Given the description of an element on the screen output the (x, y) to click on. 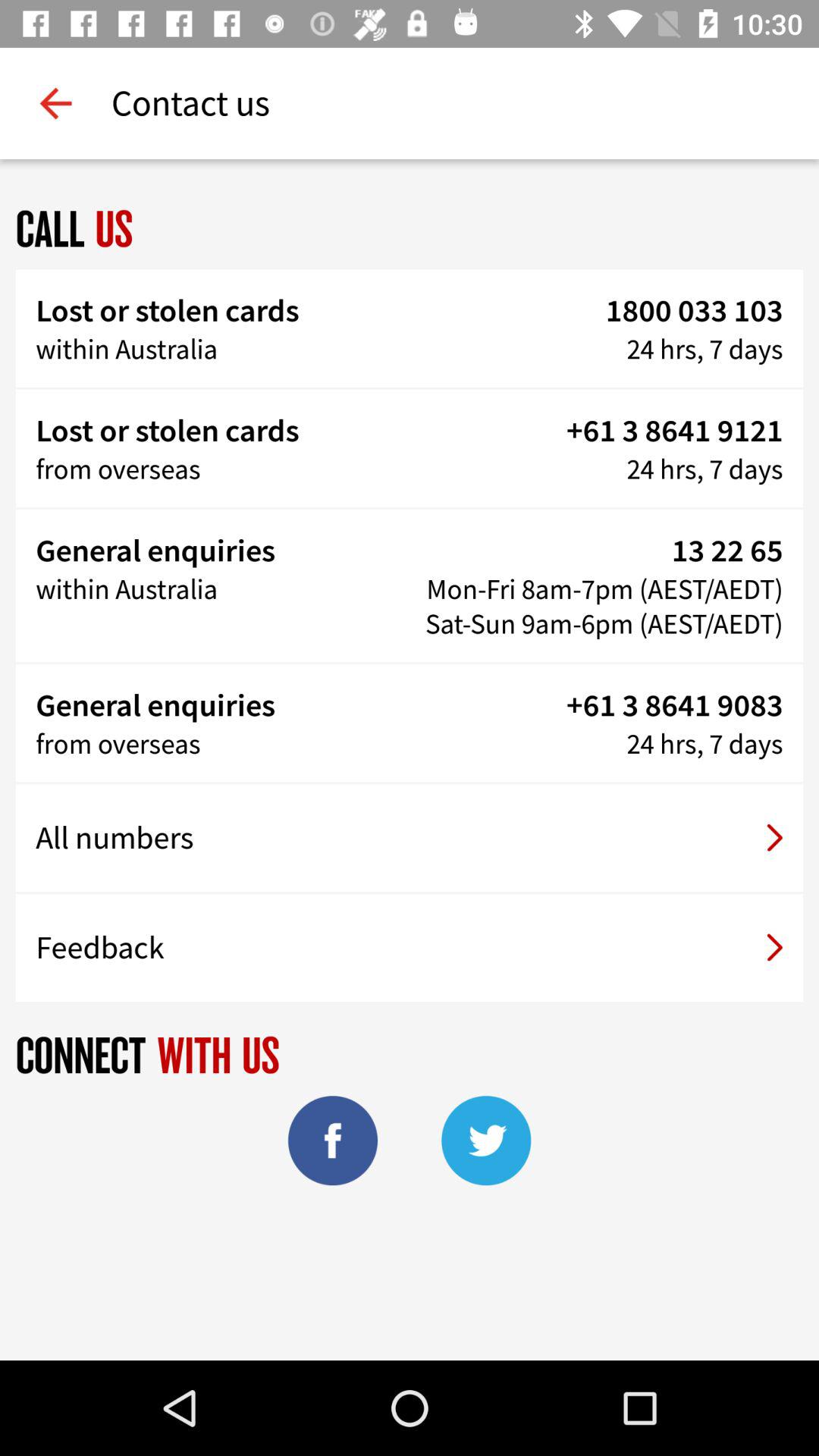
turn on app next to contact us (55, 103)
